Given the description of an element on the screen output the (x, y) to click on. 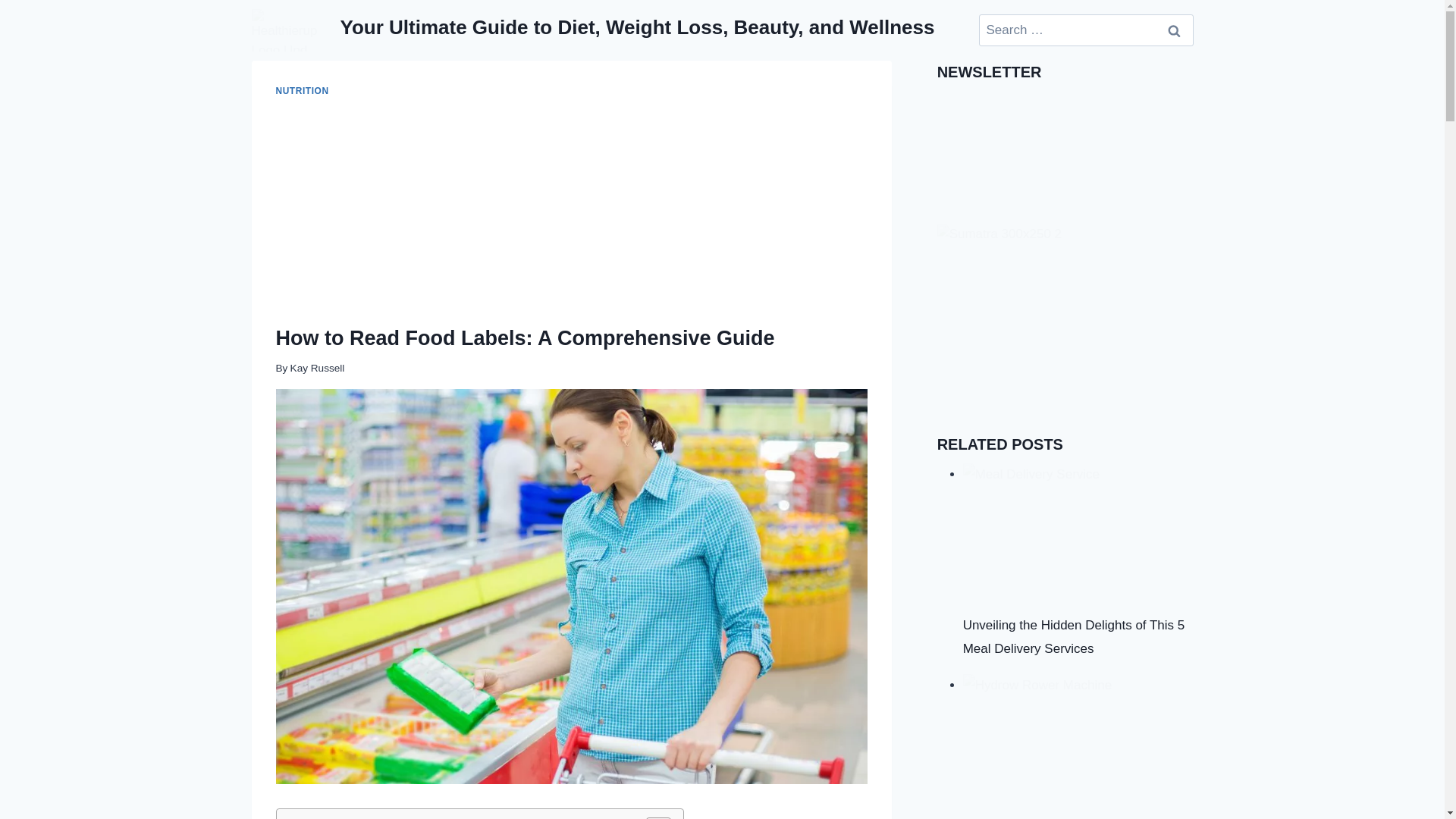
Search (1174, 29)
Search (1174, 29)
Search (1174, 29)
Advertisement (571, 212)
NUTRITION (302, 90)
